Given the description of an element on the screen output the (x, y) to click on. 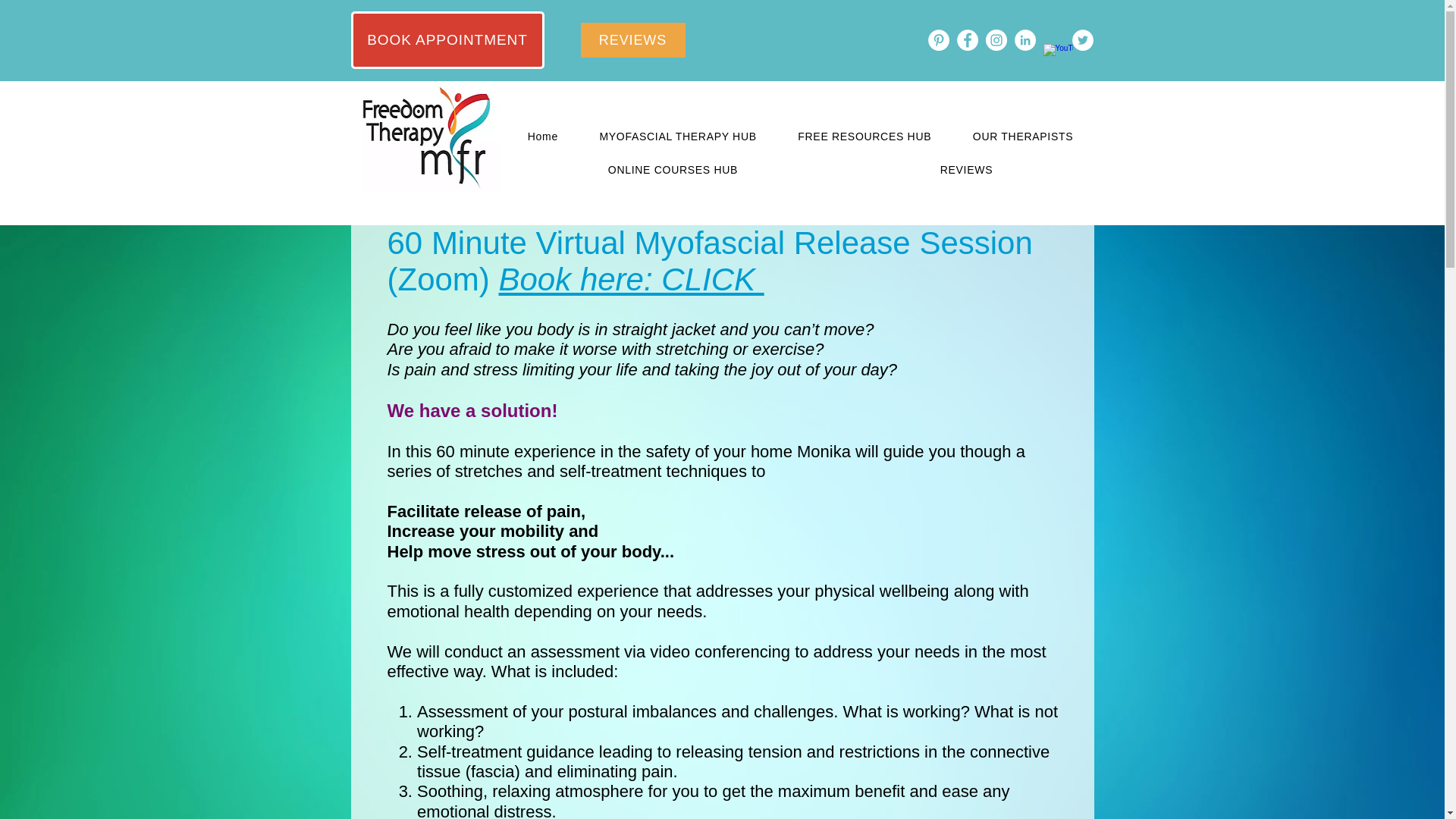
REVIEWS (965, 169)
REVIEWS (632, 39)
MYOFASCIAL THERAPY HUB (677, 135)
FREE RESOURCES HUB (864, 135)
Home (542, 135)
Book here: CLICK  (631, 279)
BOOK APPOINTMENT (446, 39)
OUR THERAPISTS (1023, 135)
ONLINE COURSES HUB (672, 169)
